Given the description of an element on the screen output the (x, y) to click on. 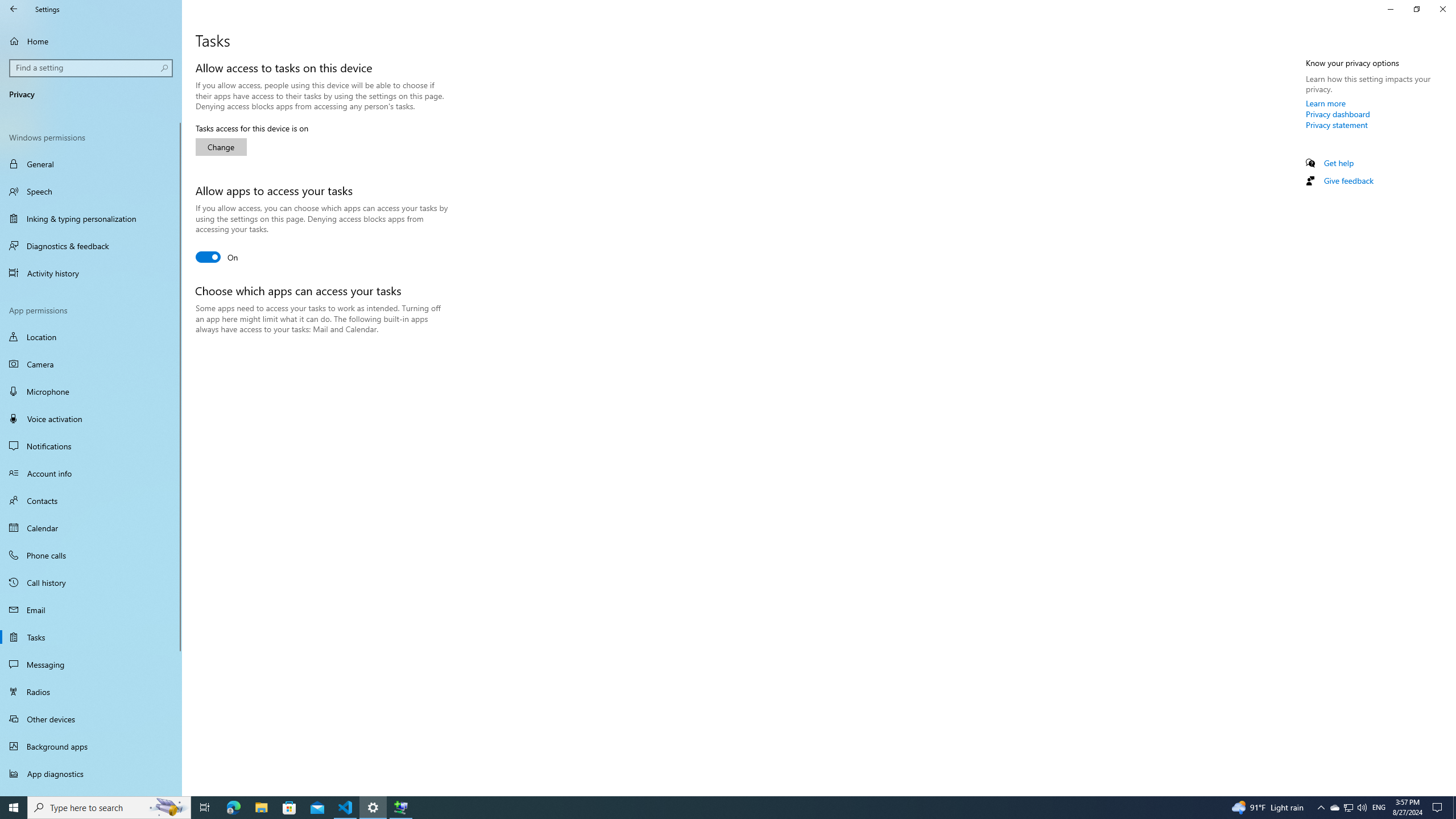
Home (91, 40)
Email (91, 609)
General (91, 163)
Change (221, 146)
Settings - 1 running window (373, 807)
Camera (91, 363)
Phone calls (91, 554)
Notifications (91, 445)
Call history (91, 582)
Tasks (91, 636)
Back (13, 9)
Messaging (91, 664)
